Given the description of an element on the screen output the (x, y) to click on. 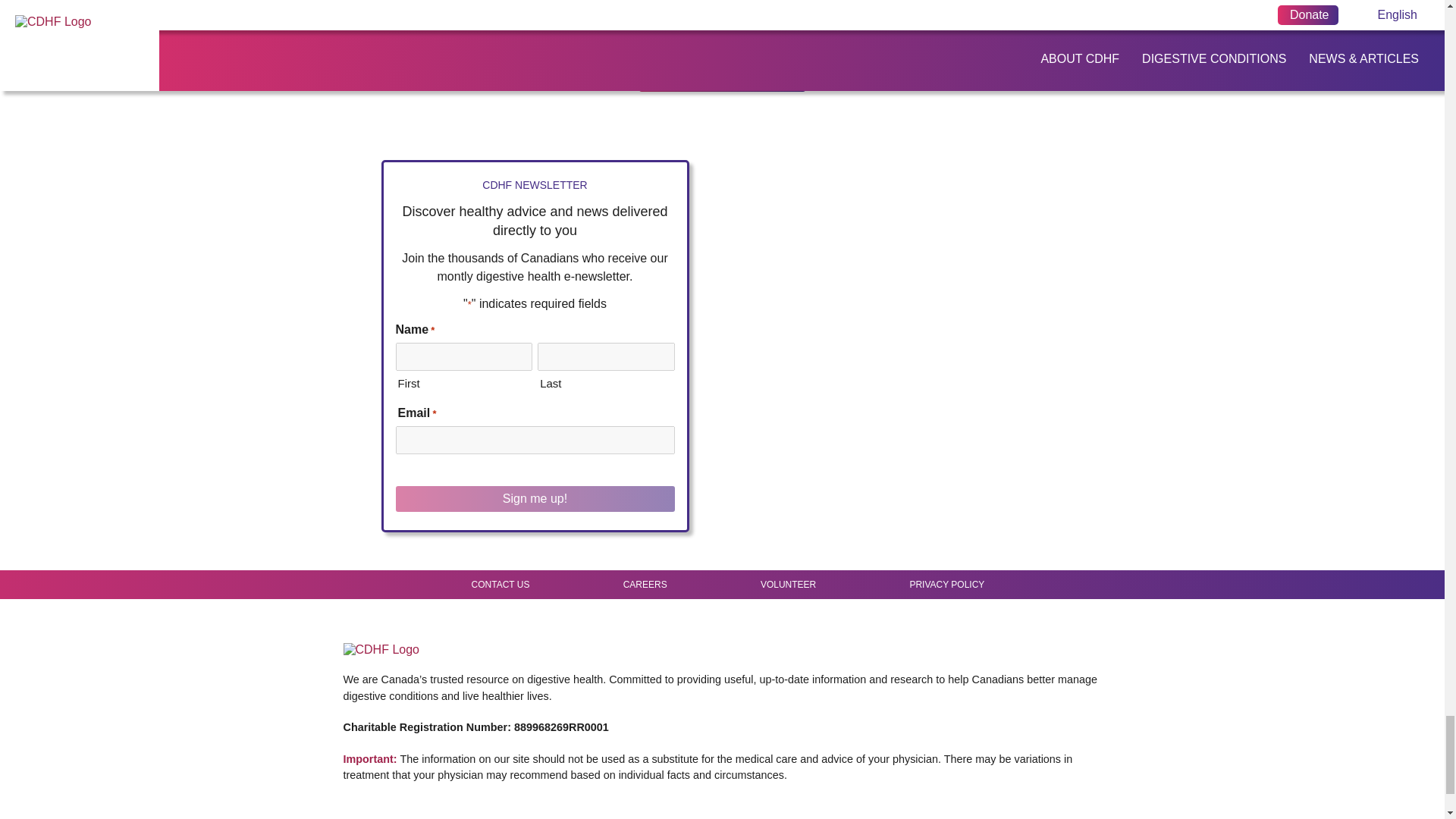
YouTube (1010, 631)
Twitter (995, 631)
Sign me up! (535, 498)
Facebook (968, 631)
Instagram (1024, 631)
